Given the description of an element on the screen output the (x, y) to click on. 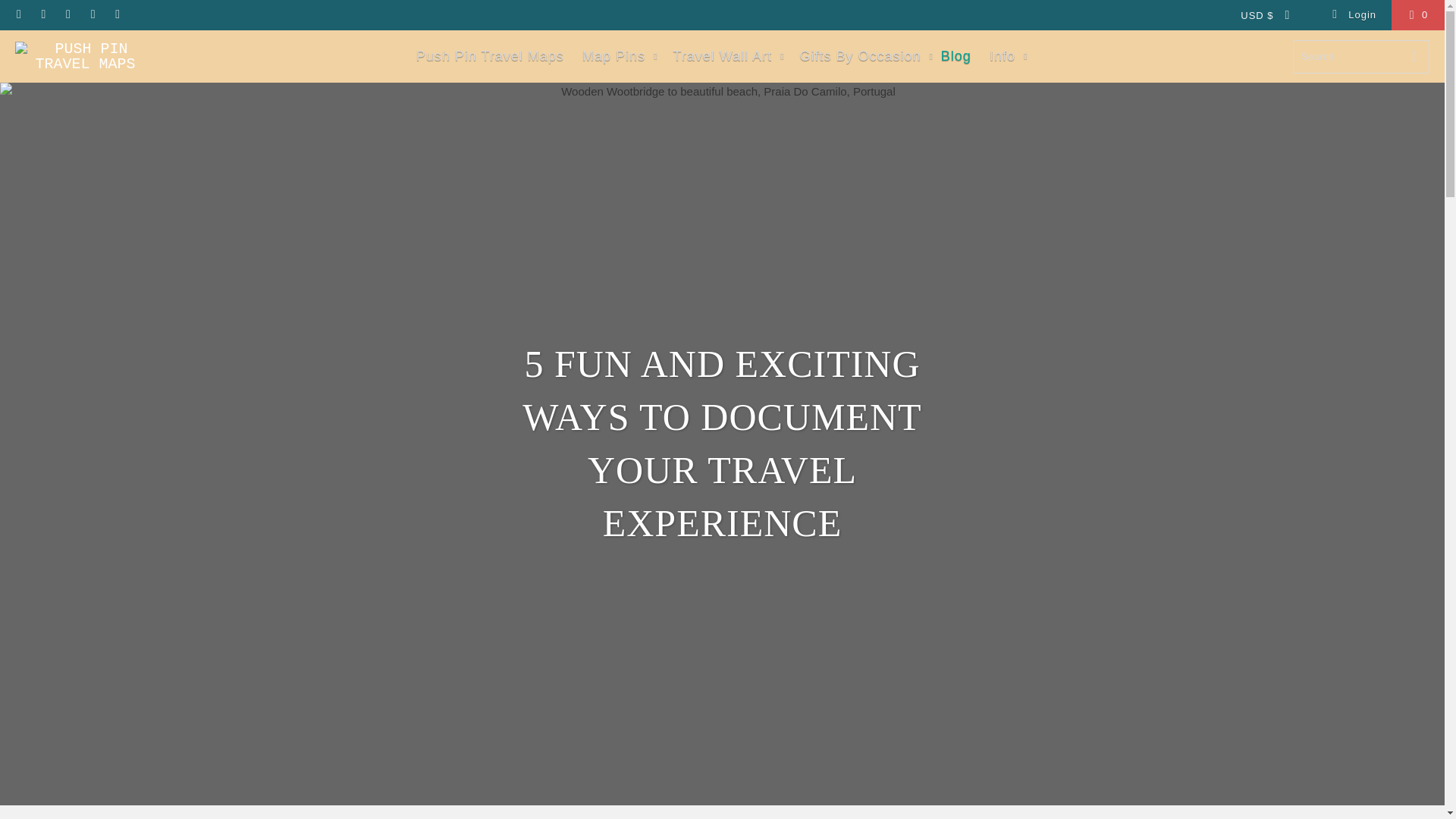
Push Pin Travel Maps on Instagram (92, 14)
Push Pin Travel Maps on Twitter (17, 14)
My Account  (1353, 15)
Push Pin Travel Maps on Facebook (42, 14)
Push Pin Travel Maps (84, 55)
Email Push Pin Travel Maps (116, 14)
Push Pin Travel Maps on Pinterest (67, 14)
